Given the description of an element on the screen output the (x, y) to click on. 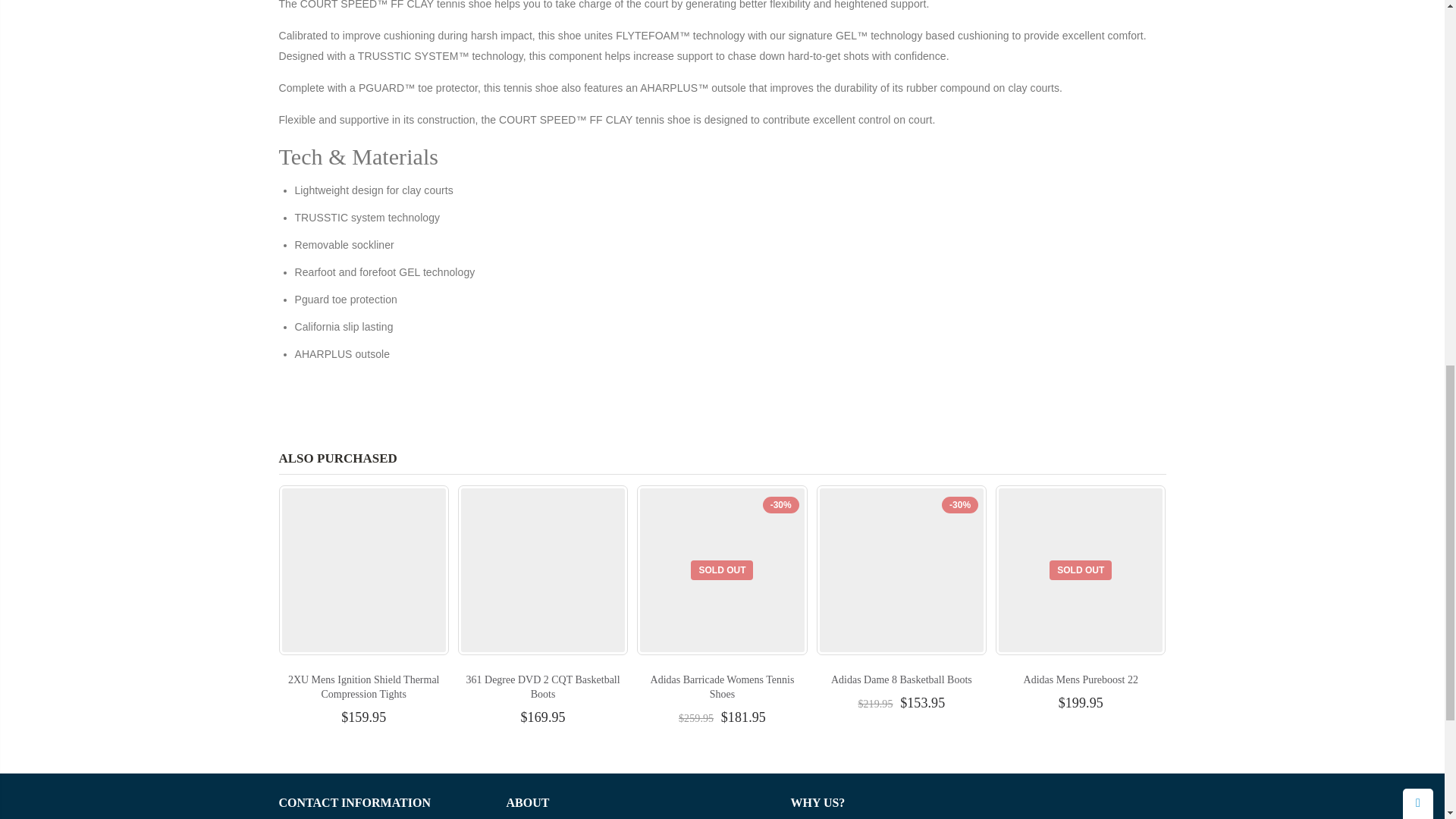
Adidas Dame 8 Basketball Boots (901, 679)
361 Degree DVD 2 CQT Basketball Boots (542, 687)
2XU Mens Ignition Shield Thermal Compression Tights (363, 687)
Adidas Mens Pureboost 22 (1080, 679)
Adidas Barricade Womens Tennis Shoes (722, 687)
2XU Mens Ignition Shield Thermal Compression Tights (363, 687)
